Given the description of an element on the screen output the (x, y) to click on. 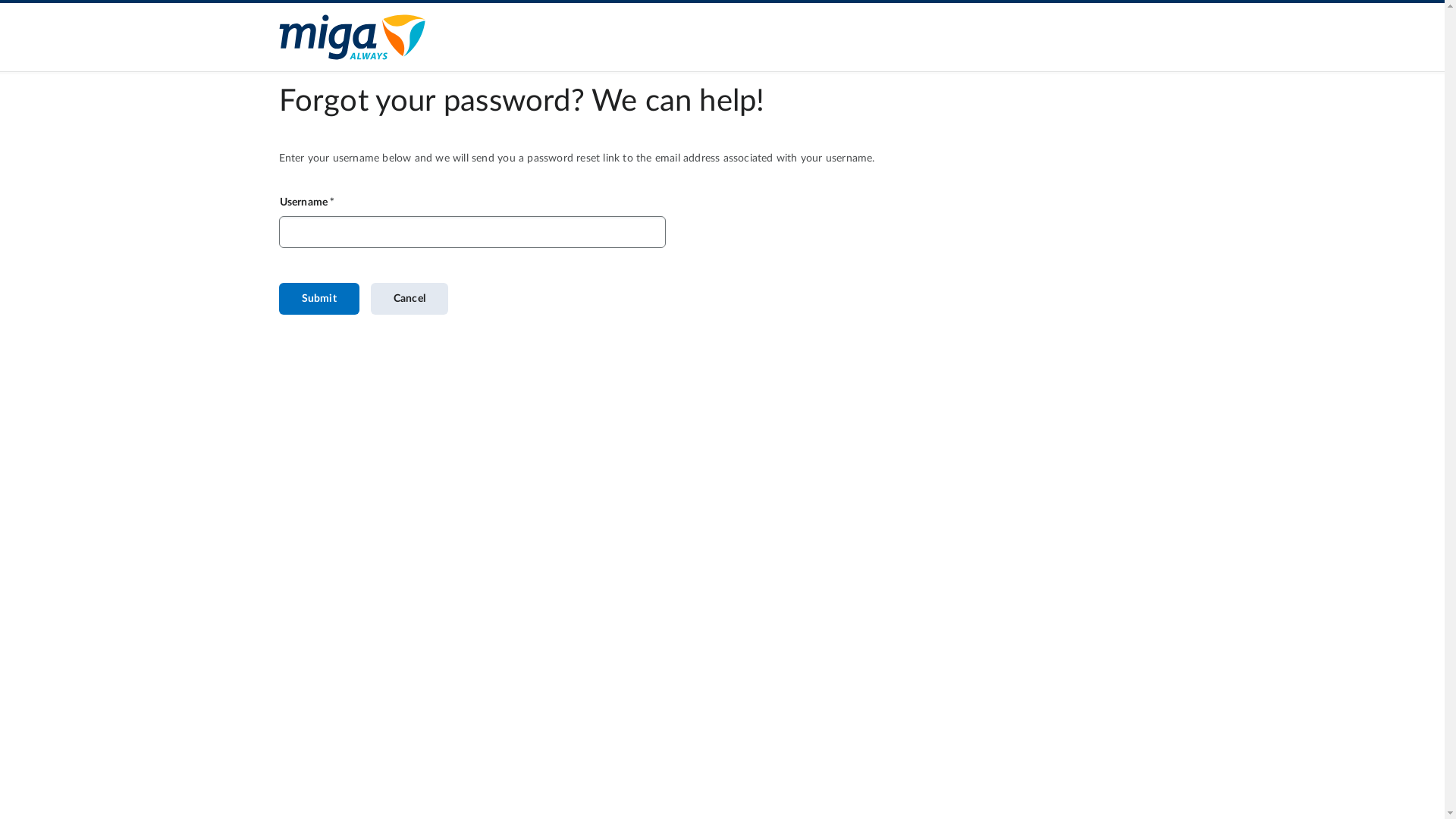
Cancel Element type: text (409, 298)
Submit Element type: text (319, 298)
